Given the description of an element on the screen output the (x, y) to click on. 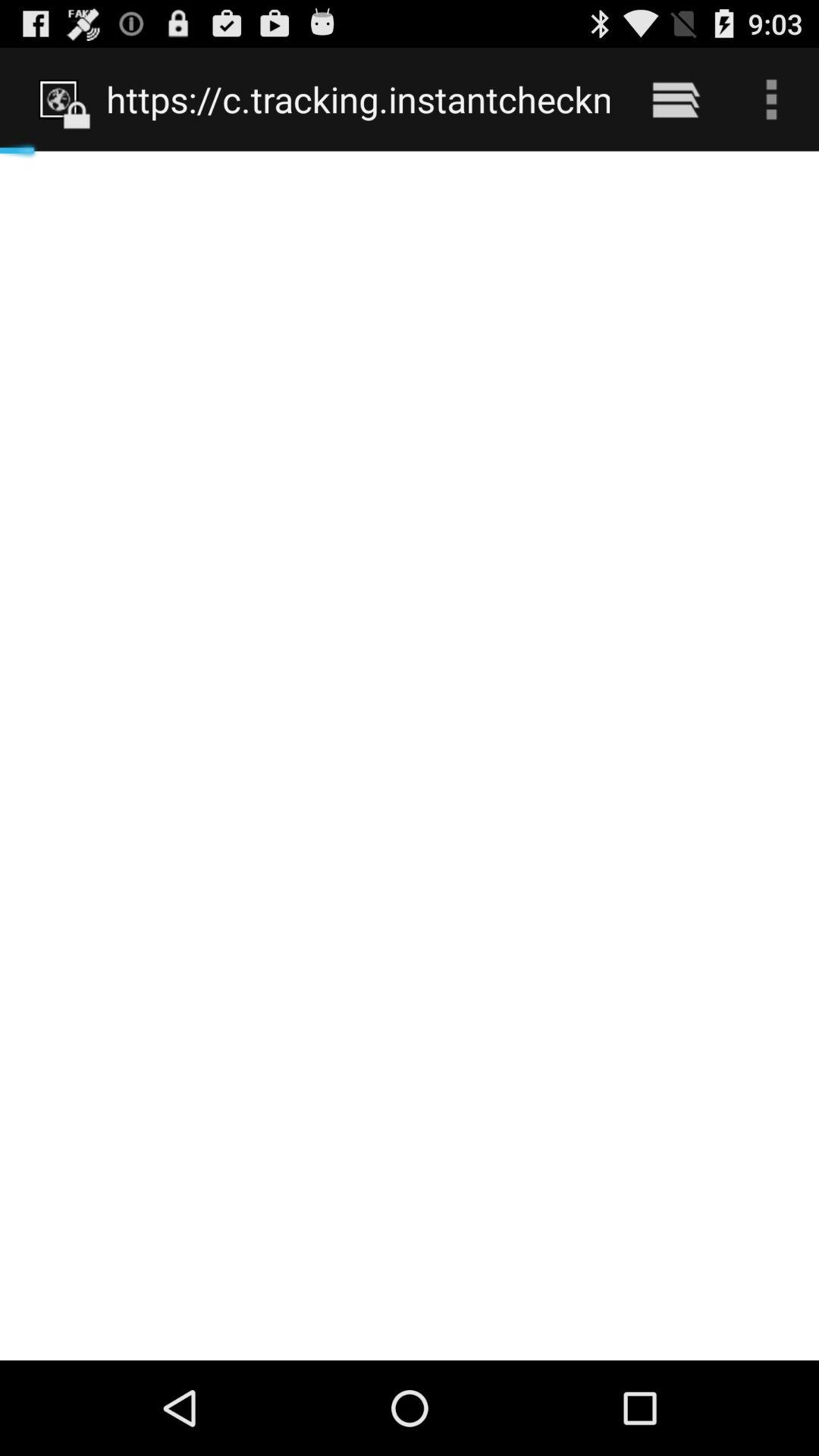
click item at the center (409, 755)
